Given the description of an element on the screen output the (x, y) to click on. 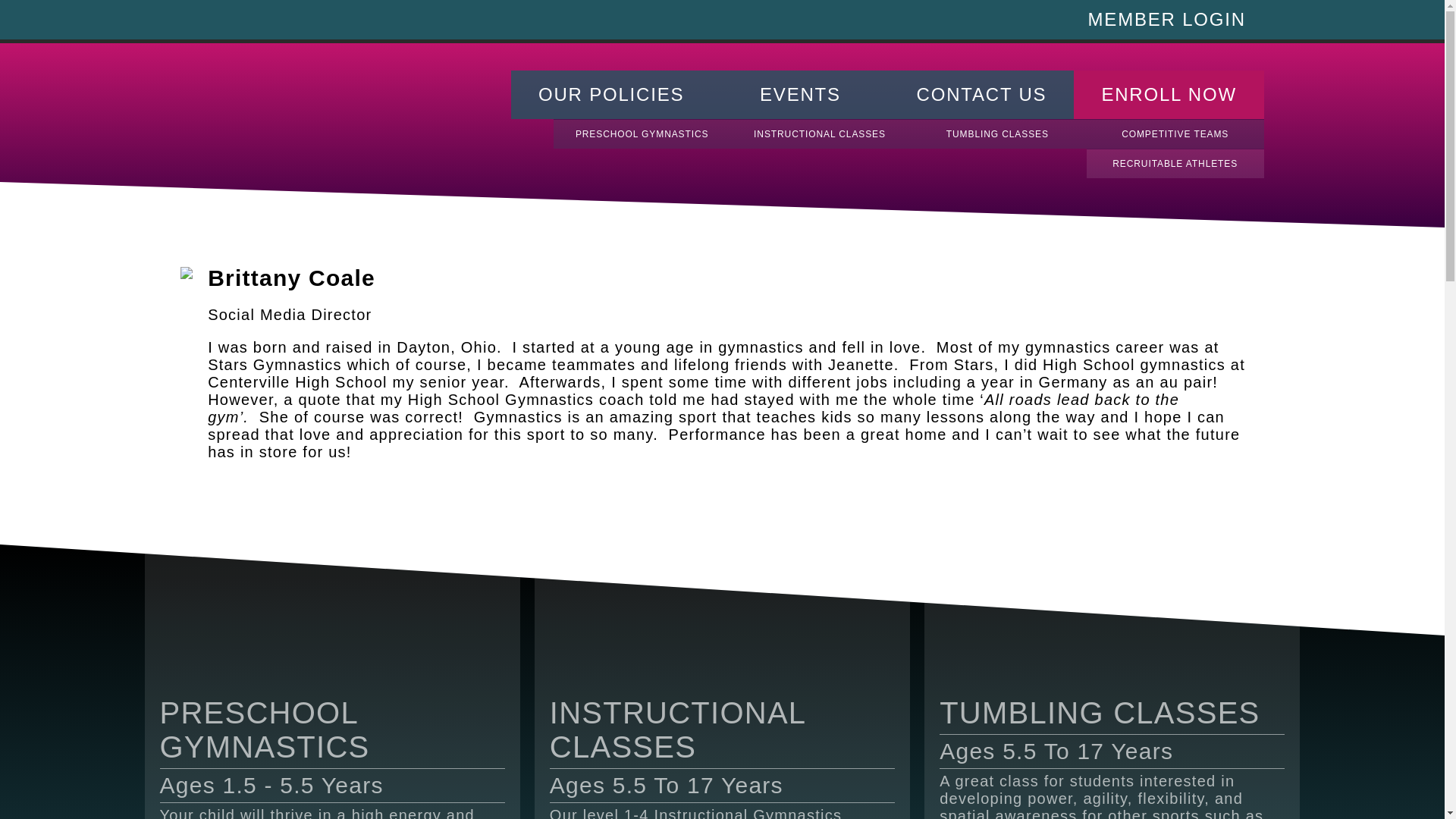
MEMBER LOGIN (1166, 19)
TUMBLING CLASSES (997, 133)
COMPETITIVE TEAMS (1174, 133)
Enroll Now (1168, 94)
INSTRUCTIONAL CLASSES (819, 133)
EVENTS (799, 94)
CONTACT US (981, 94)
RECRUITABLE ATHLETES (1174, 163)
OUR POLICIES (611, 94)
ENROLL NOW (1168, 94)
